Given the description of an element on the screen output the (x, y) to click on. 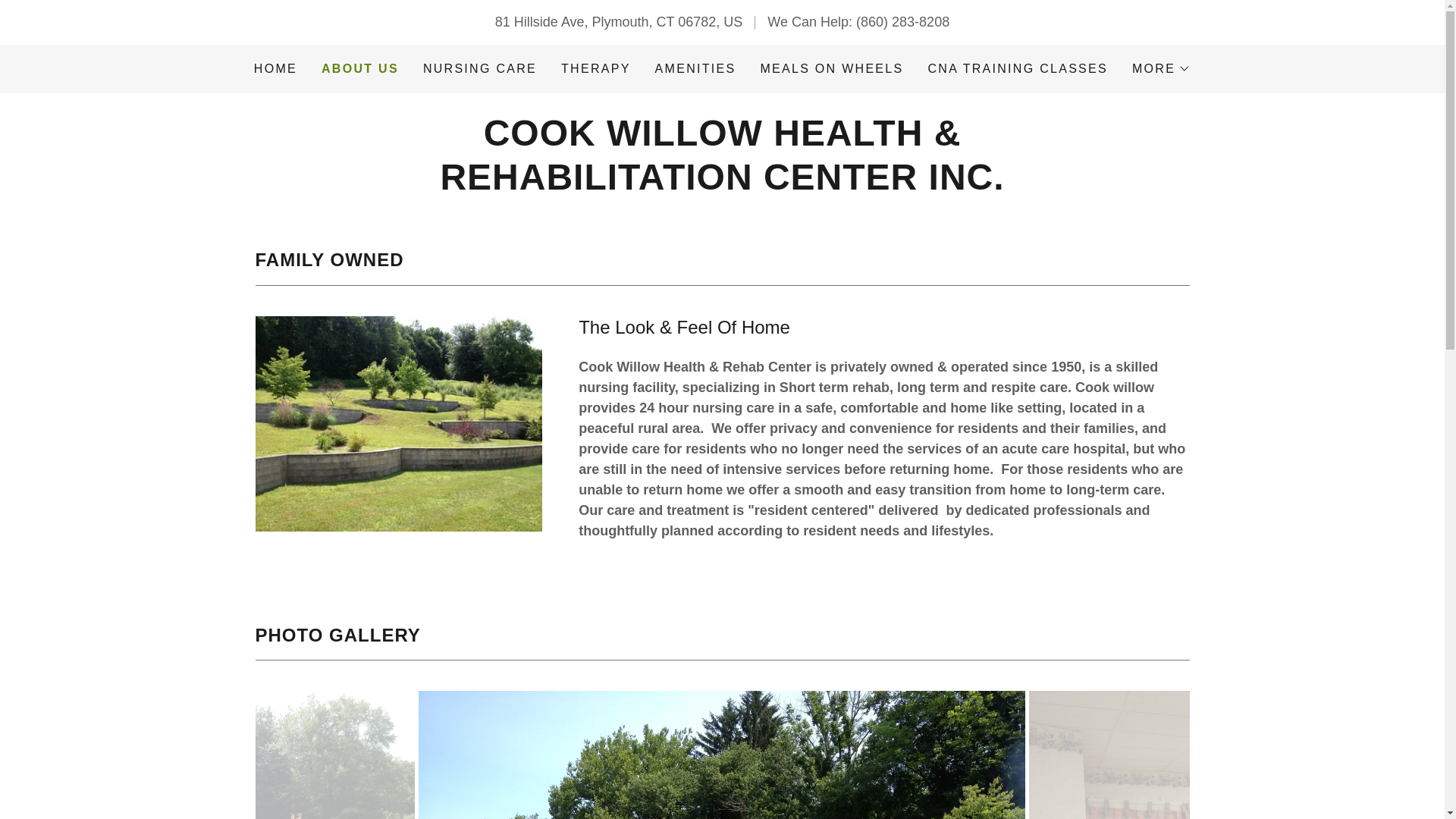
MEALS ON WHEELS (831, 68)
HOME (274, 68)
CNA TRAINING CLASSES (1017, 68)
AMENITIES (695, 68)
ABOUT US (359, 68)
NURSING CARE (480, 68)
THERAPY (595, 68)
MORE (1161, 68)
